Given the description of an element on the screen output the (x, y) to click on. 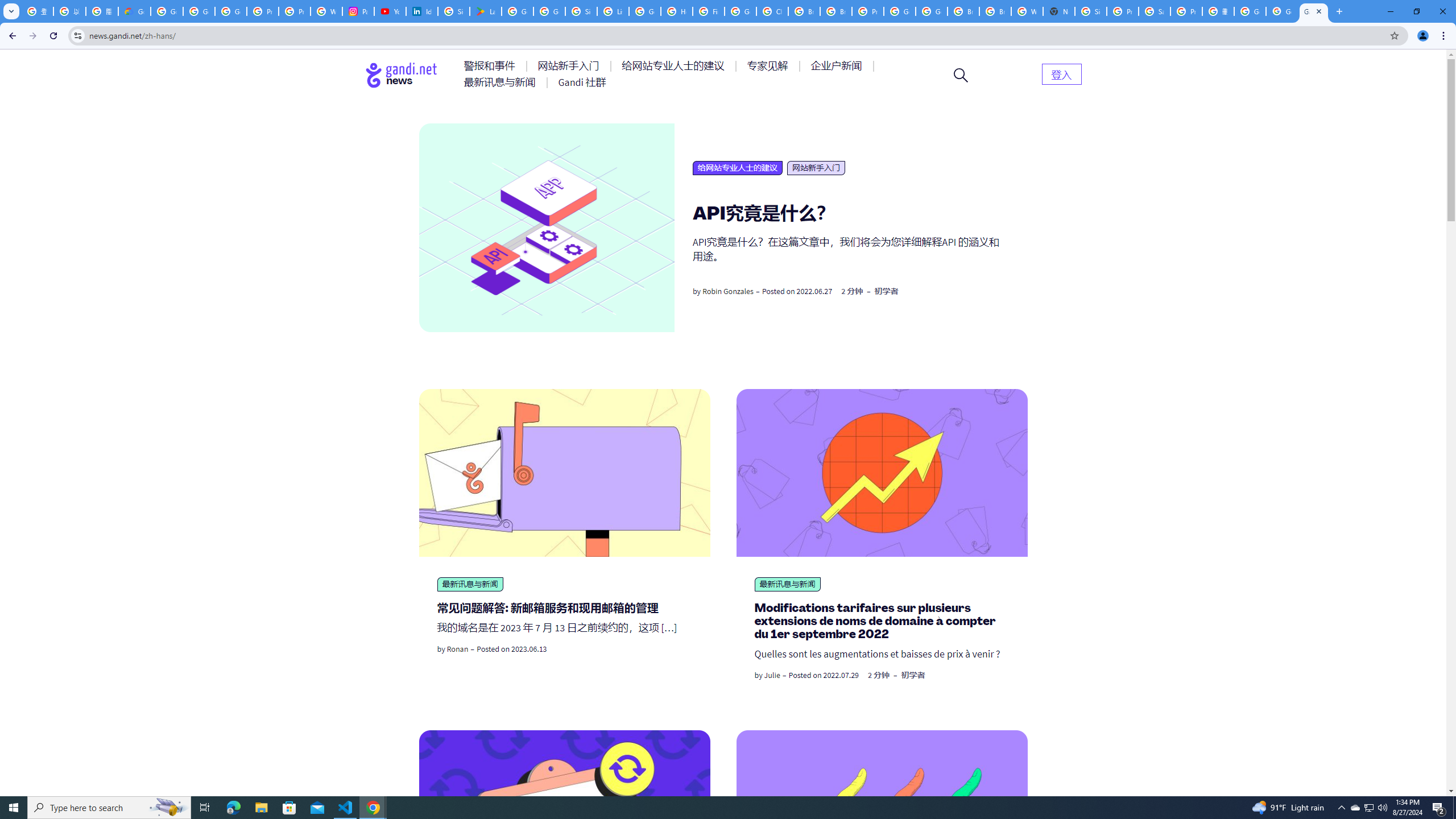
Open search form (960, 74)
Sign in - Google Accounts (1091, 11)
Robin Gonzales (727, 290)
New Tab (1059, 11)
